Given the description of an element on the screen output the (x, y) to click on. 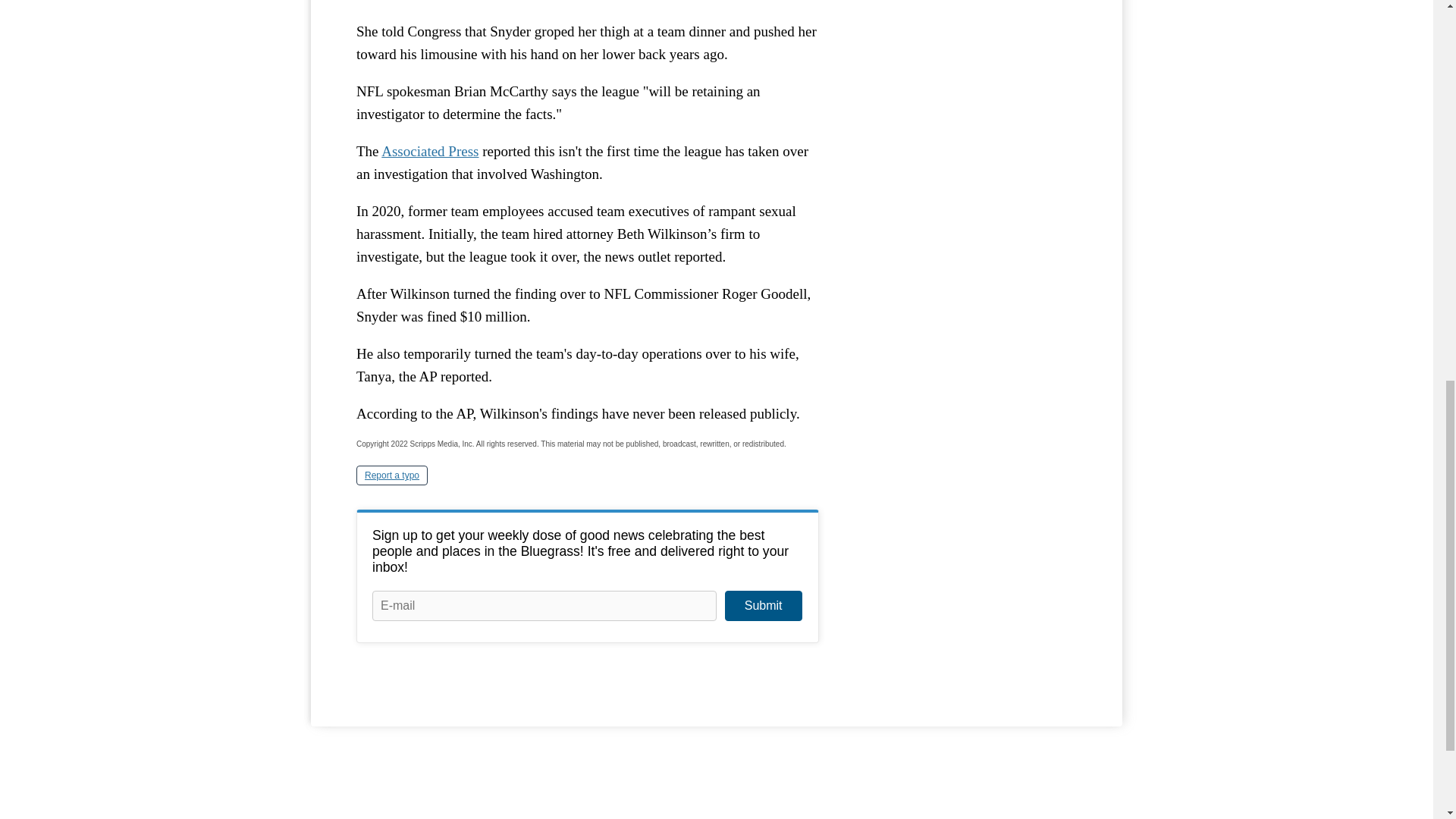
Submit (763, 605)
